Given the description of an element on the screen output the (x, y) to click on. 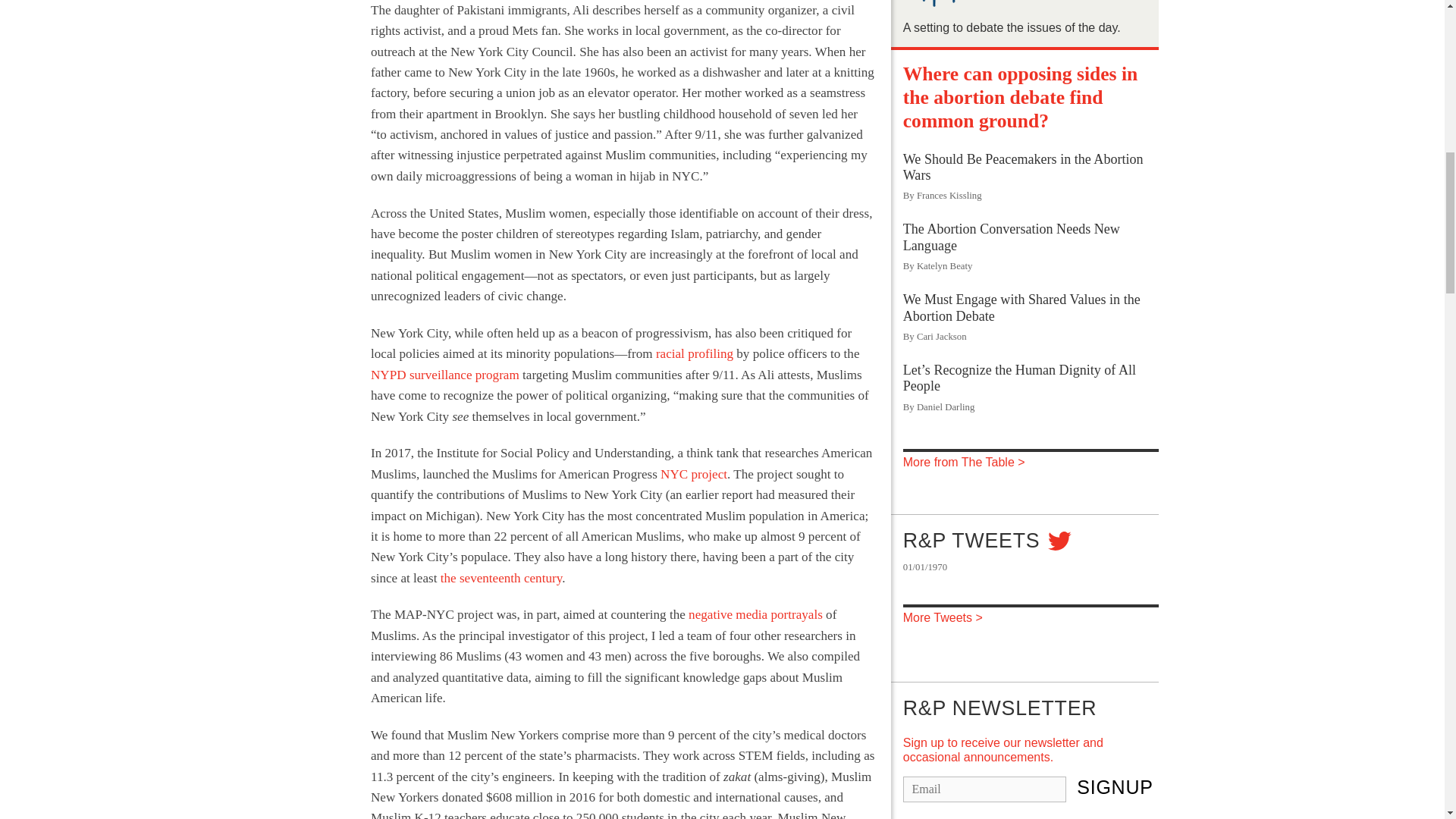
Signup (1115, 787)
